Given the description of an element on the screen output the (x, y) to click on. 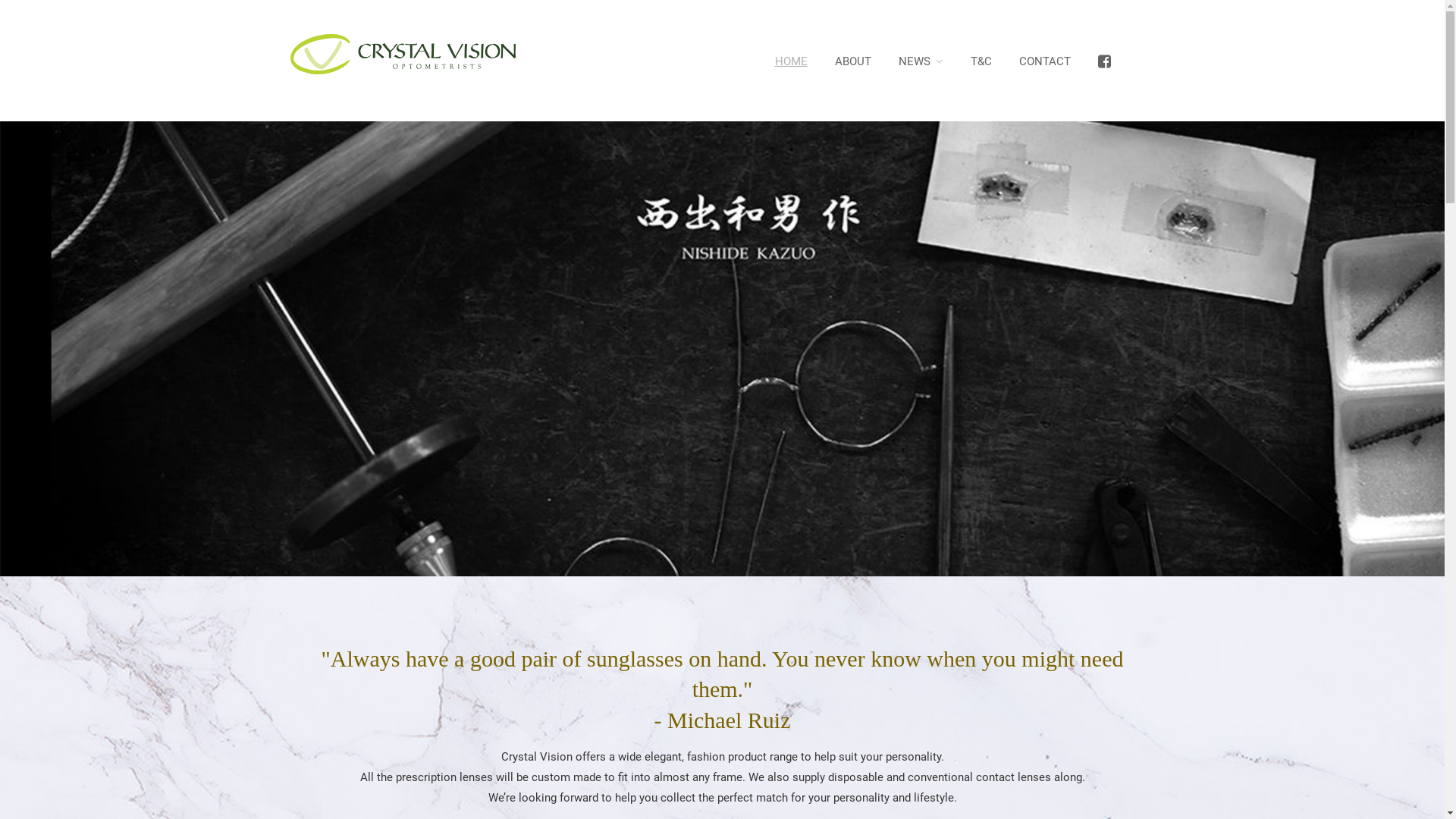
T&C Element type: text (981, 61)
HOME Element type: text (791, 61)
<i class="fa fa-facebook-square fa-lg"></i> Element type: hover (1104, 61)
NEWS Element type: text (920, 61)
ABOUT Element type: text (852, 61)
CONTACT Element type: text (1044, 61)
